Given the description of an element on the screen output the (x, y) to click on. 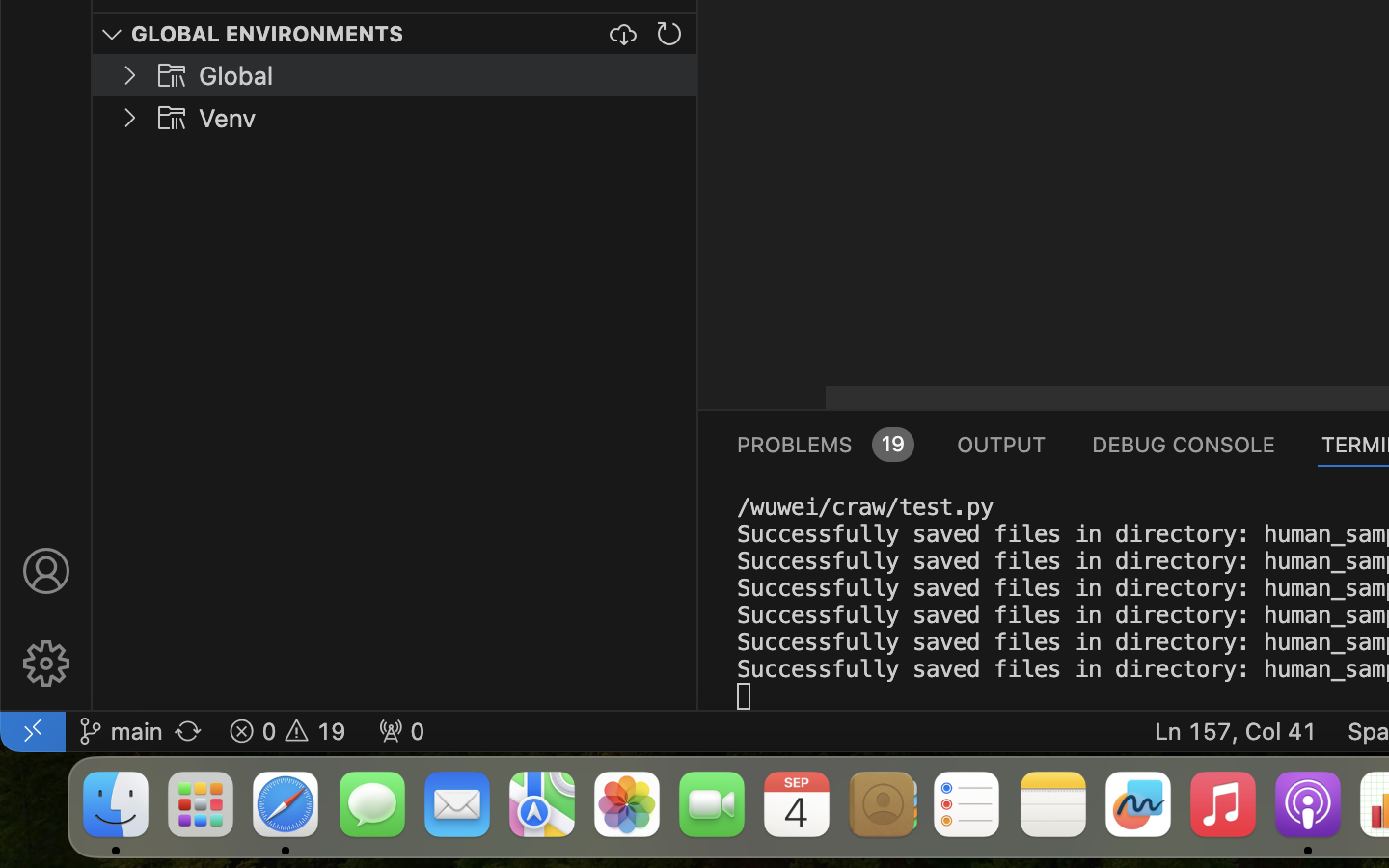
0 PROBLEMS 19 Element type: AXRadioButton (824, 443)
 Element type: AXStaticText (171, 74)
 Element type: AXGroup (46, 570)
 Element type: AXStaticText (46, 663)
0 DEBUG CONSOLE Element type: AXRadioButton (1183, 443)
